Given the description of an element on the screen output the (x, y) to click on. 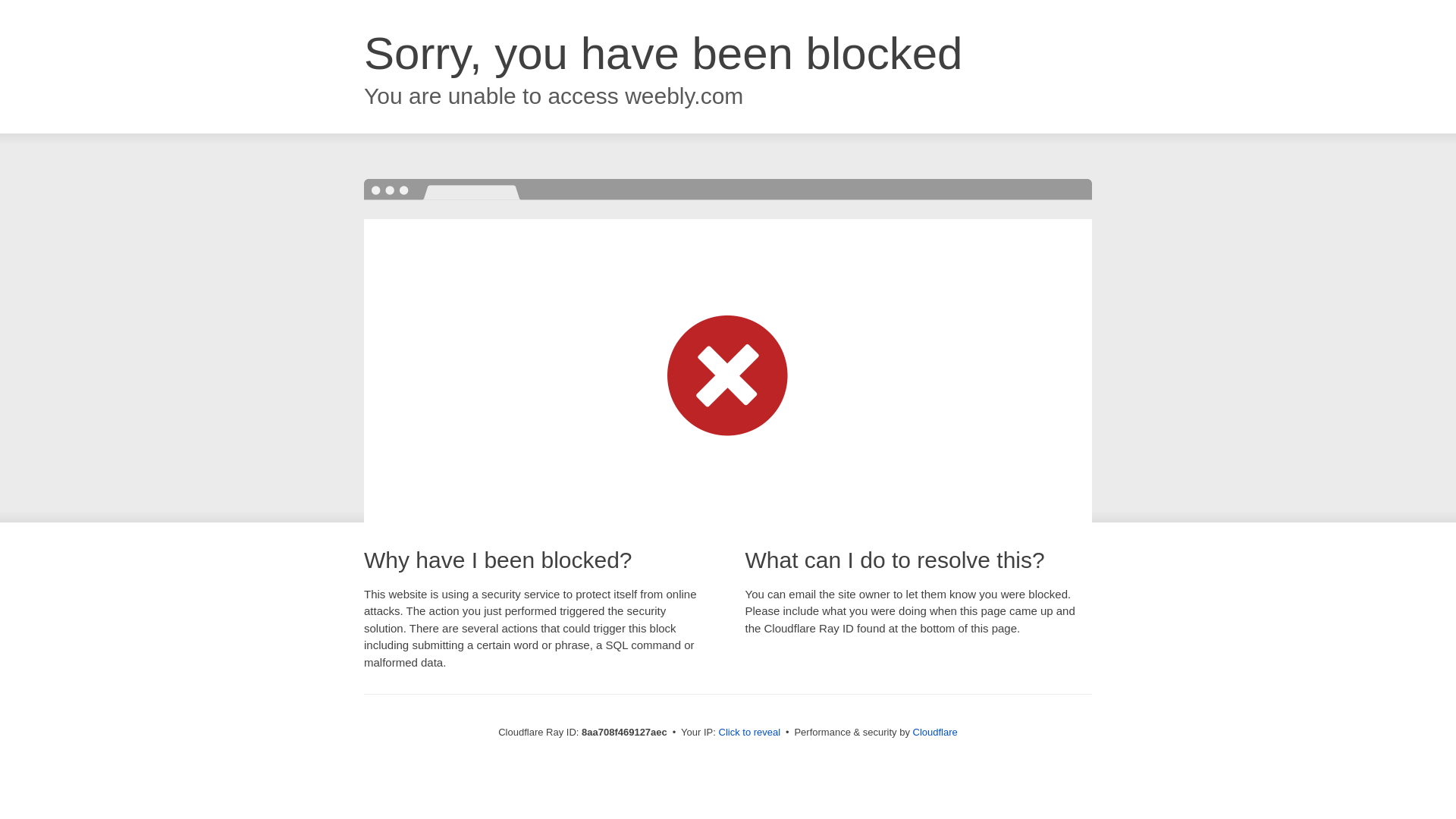
Cloudflare (935, 731)
Click to reveal (749, 732)
